Given the description of an element on the screen output the (x, y) to click on. 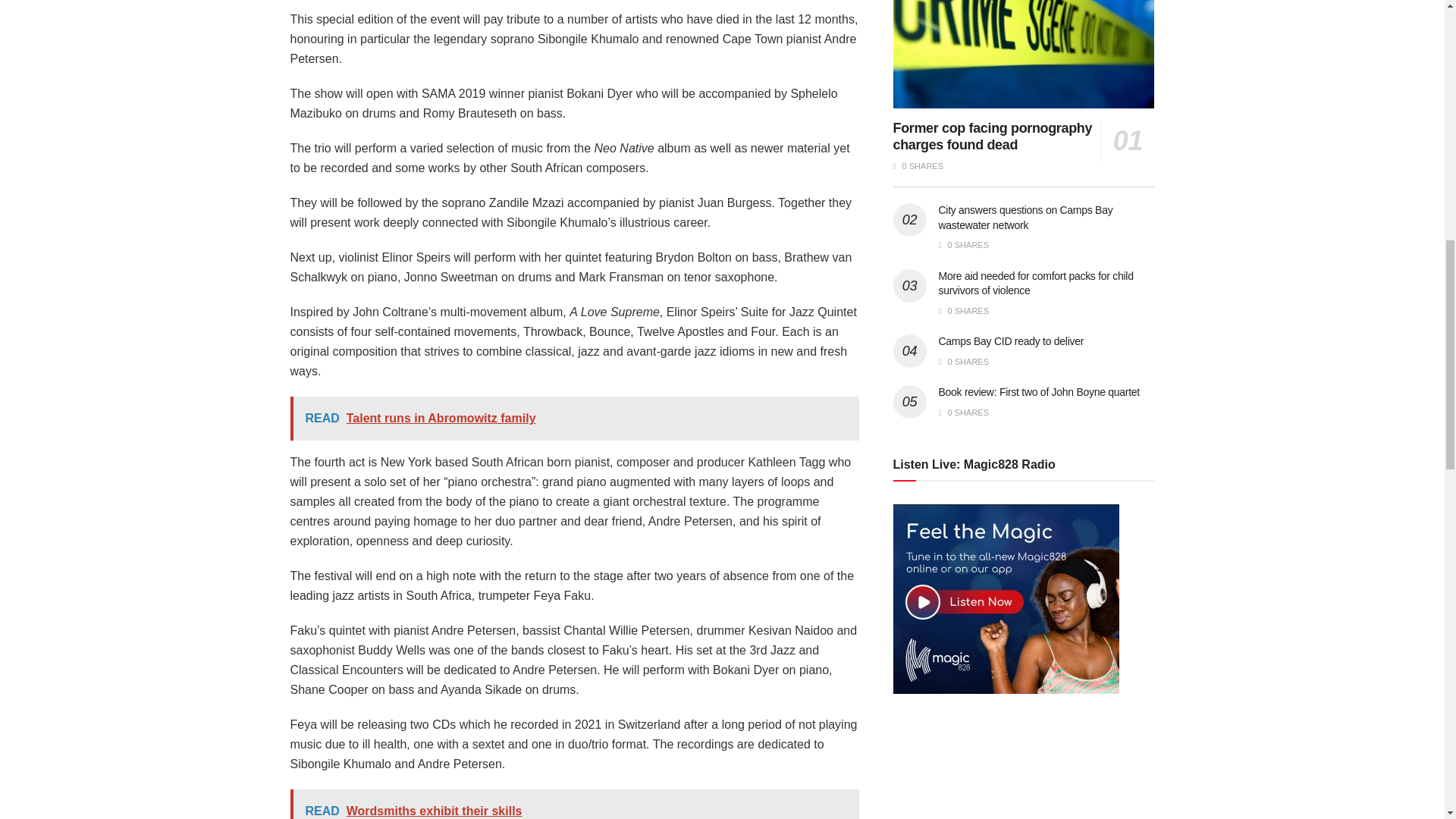
READ  Talent runs in Abromowitz family (574, 418)
READ  Wordsmiths exhibit their skills (574, 804)
